Given the description of an element on the screen output the (x, y) to click on. 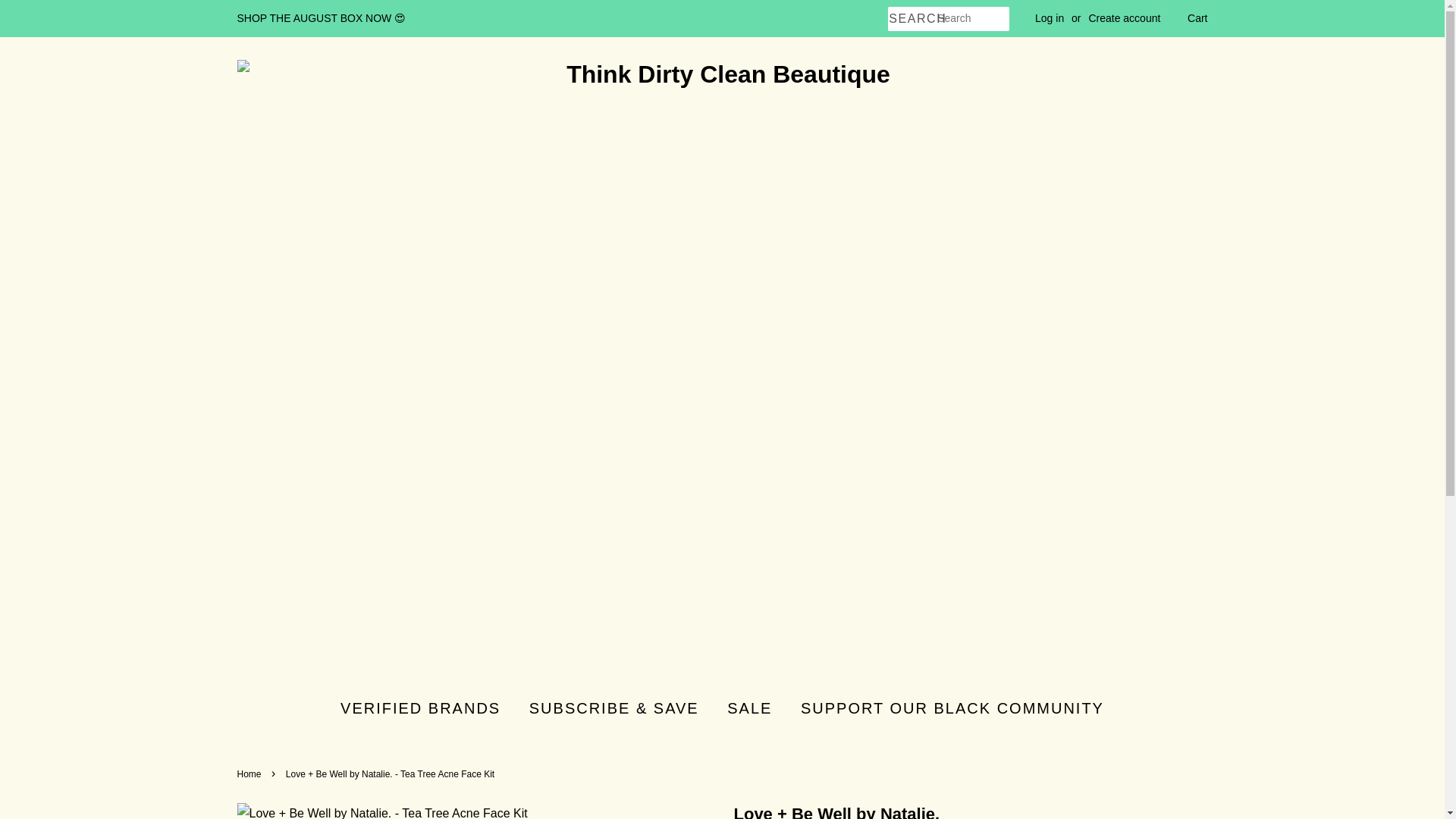
Back to the frontpage (249, 774)
Create account (1123, 18)
SEARCH (912, 18)
Cart (1197, 18)
Log in (1049, 18)
